Given the description of an element on the screen output the (x, y) to click on. 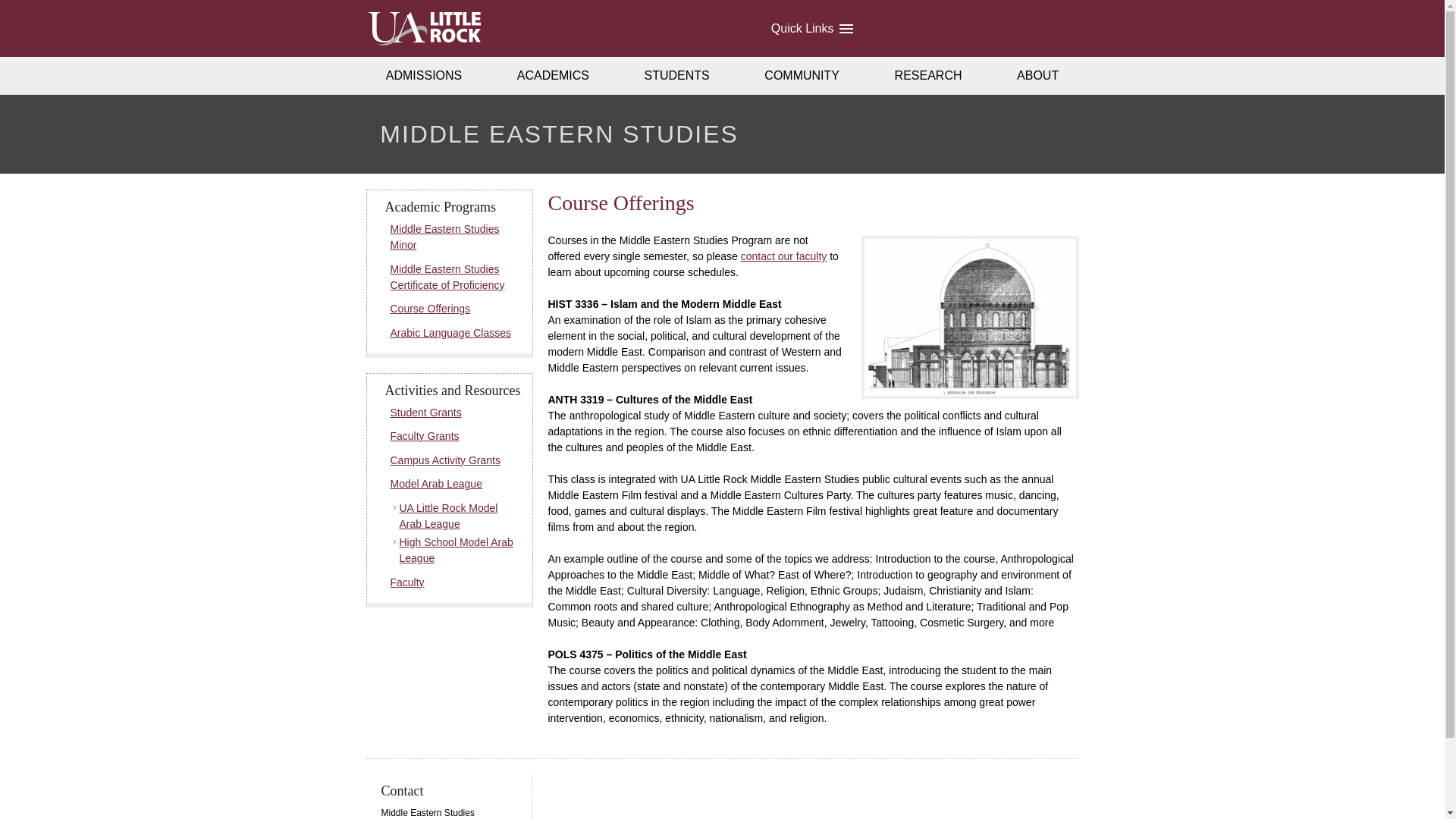
Quick Links (810, 28)
ACADEMICS (553, 75)
Skip to main content (25, 13)
ADMISSIONS (423, 75)
